Given the description of an element on the screen output the (x, y) to click on. 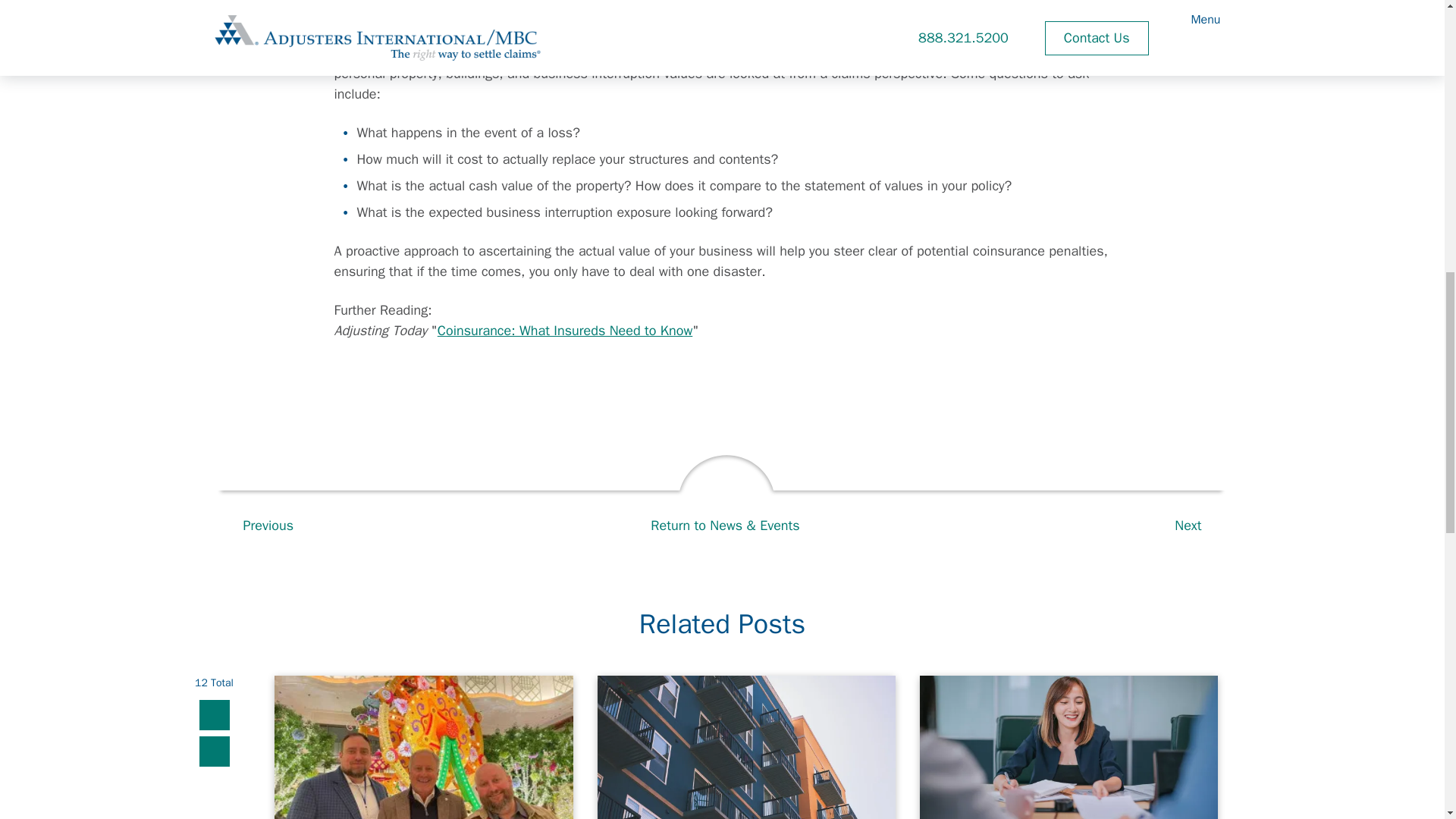
Next slide (213, 751)
Previous slide (213, 715)
Next (1195, 525)
Coinsurance: What Insureds Need to Know (565, 330)
Previous (259, 525)
